Given the description of an element on the screen output the (x, y) to click on. 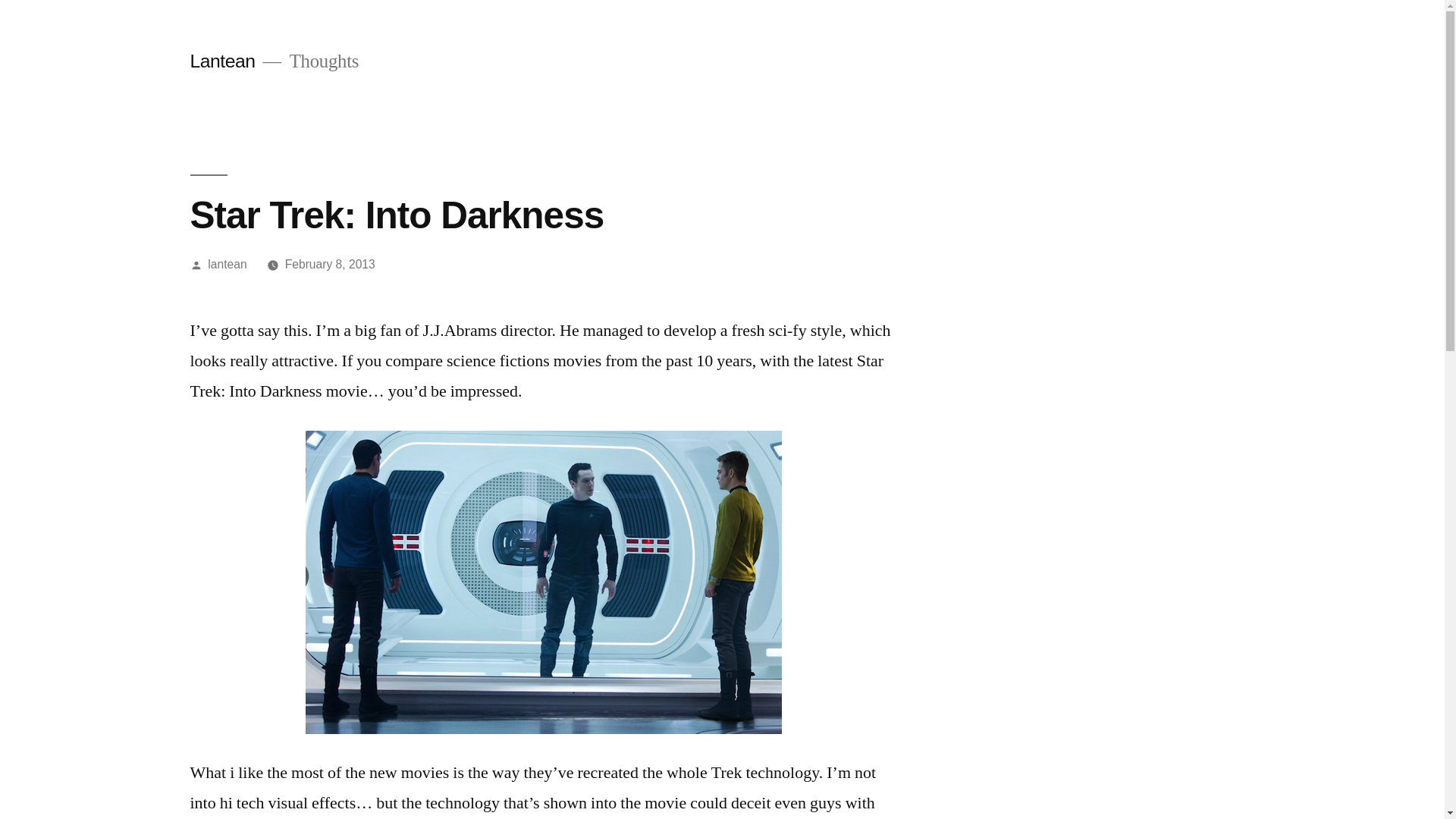
Lantean (221, 60)
February 8, 2013 (330, 264)
lantean (227, 264)
